Given the description of an element on the screen output the (x, y) to click on. 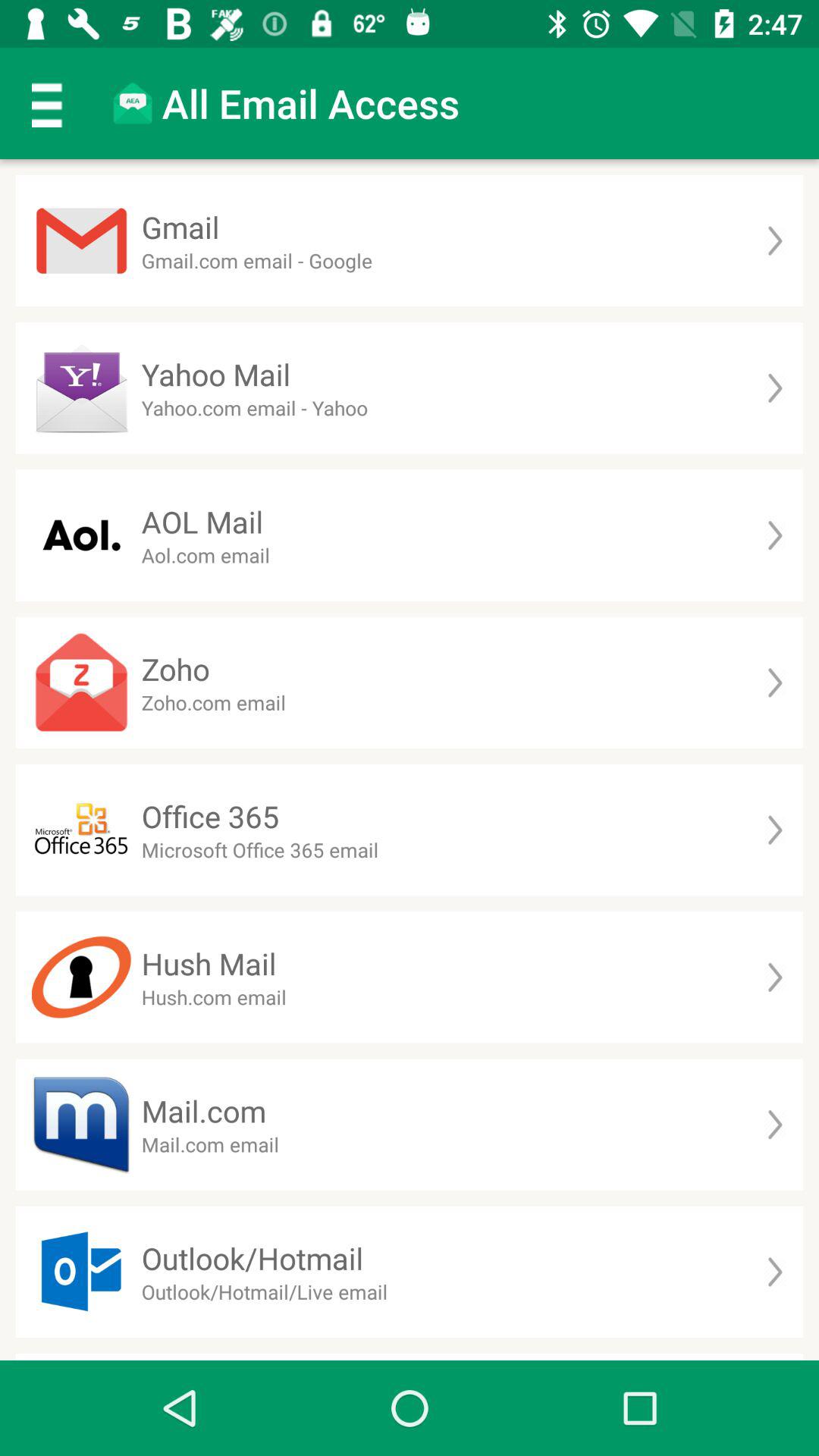
tap the icon below the yahoo com email icon (202, 521)
